Given the description of an element on the screen output the (x, y) to click on. 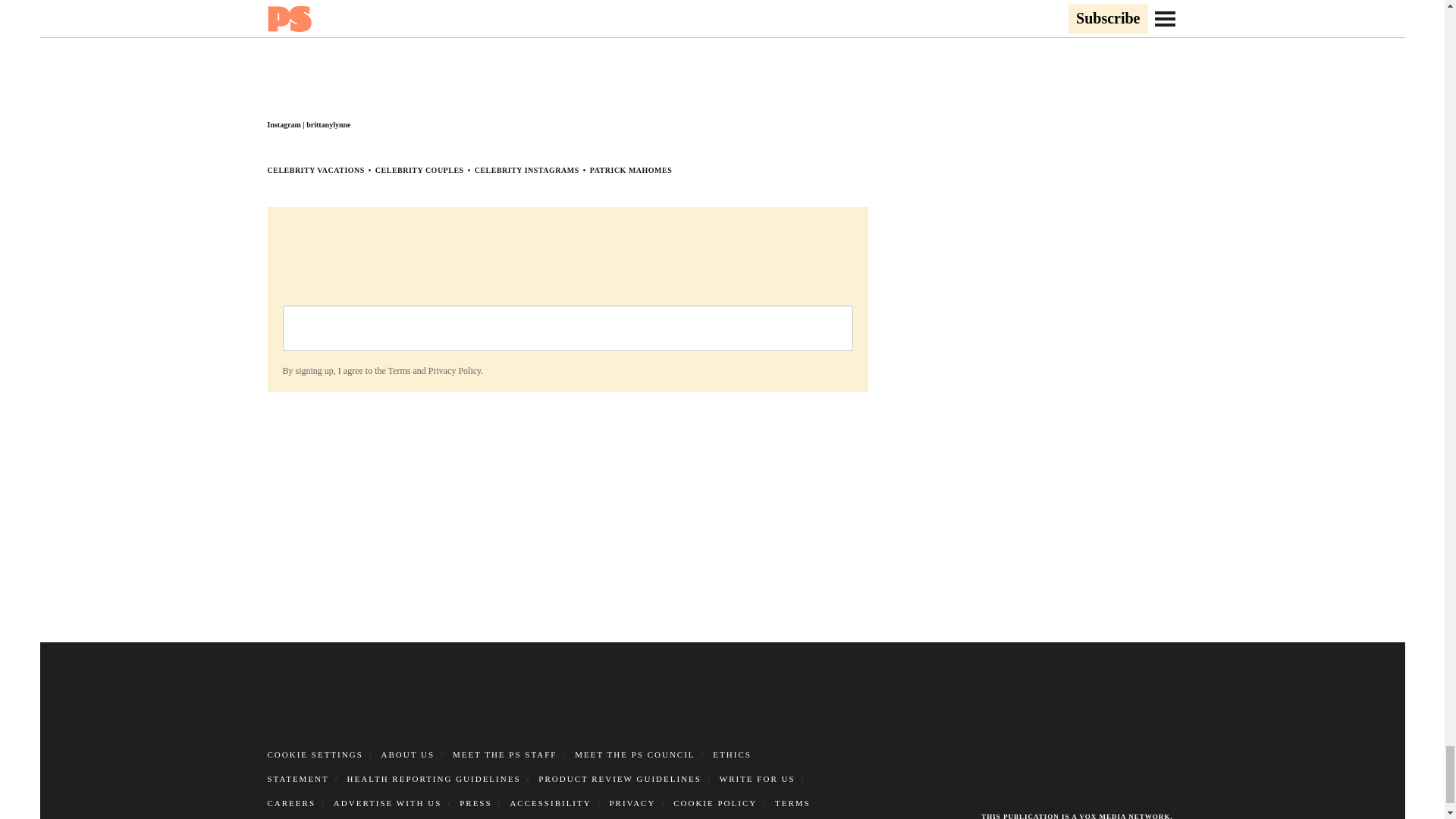
CELEBRITY VACATIONS (315, 170)
Terms (399, 370)
PATRICK MAHOMES (630, 170)
CELEBRITY COUPLES (419, 170)
CELEBRITY INSTAGRAMS (526, 170)
Privacy Policy. (455, 370)
